Given the description of an element on the screen output the (x, y) to click on. 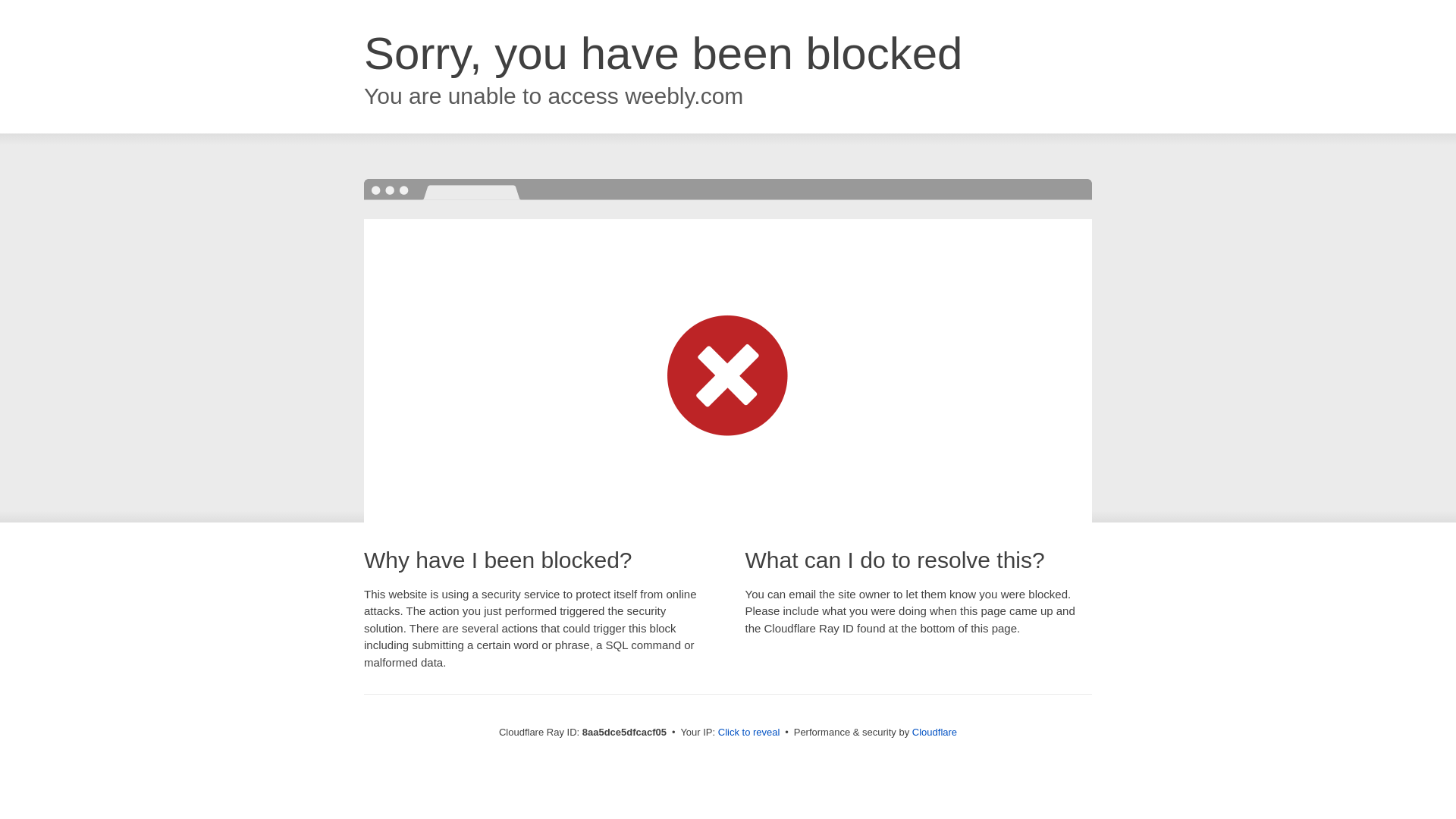
Click to reveal (748, 732)
Cloudflare (934, 731)
